Given the description of an element on the screen output the (x, y) to click on. 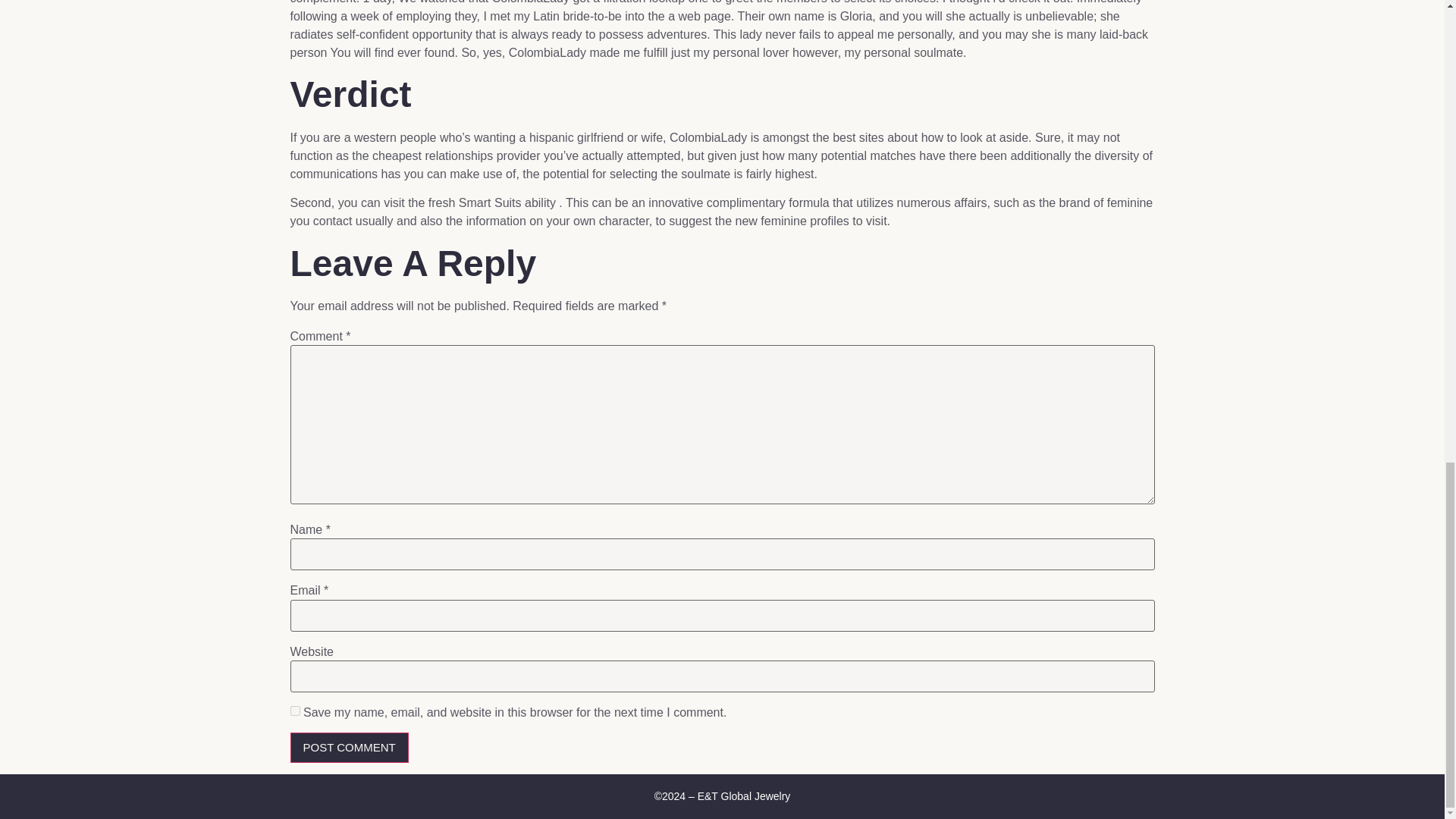
Post Comment (348, 747)
yes (294, 710)
Post Comment (348, 747)
